Given the description of an element on the screen output the (x, y) to click on. 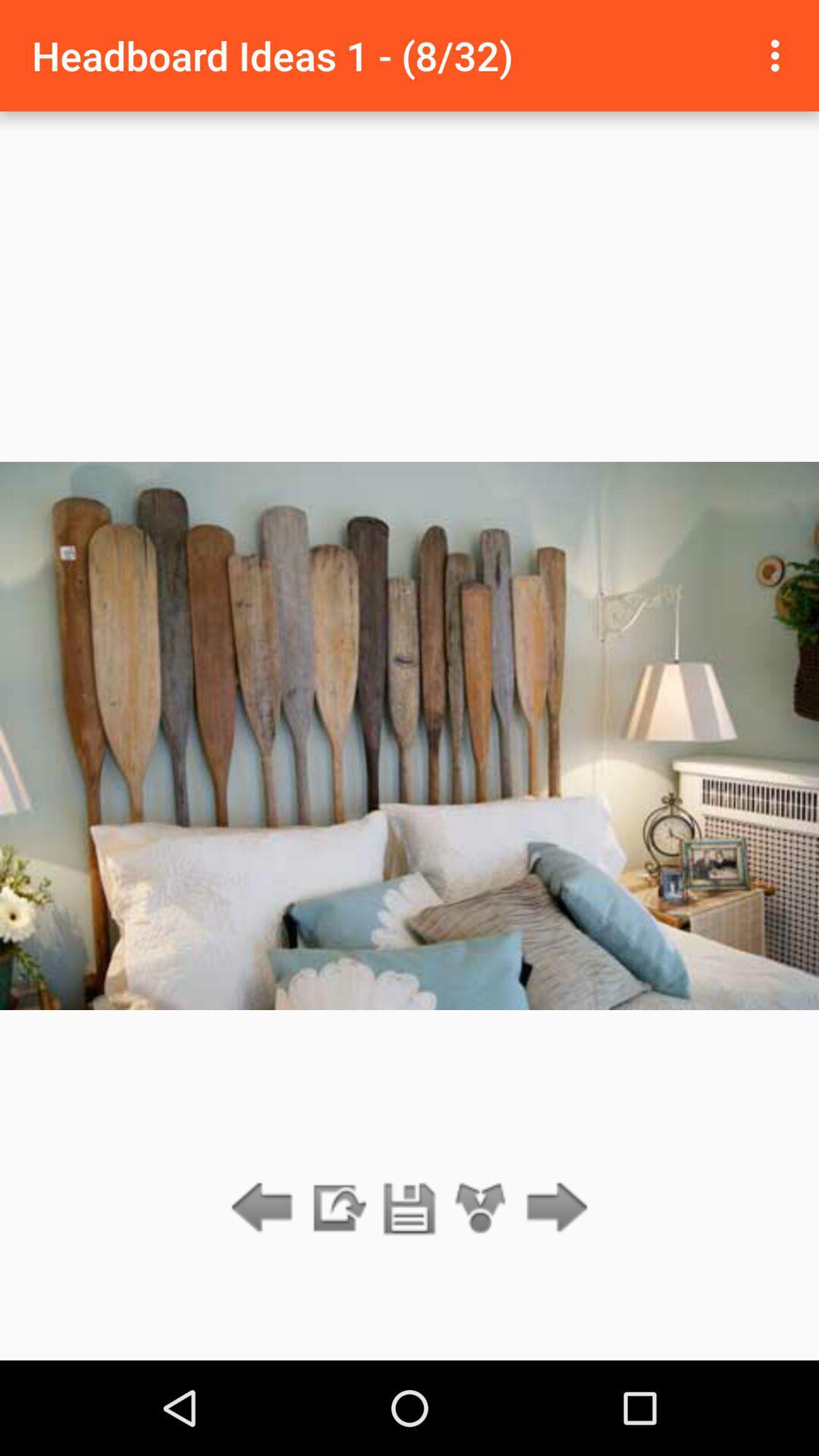
launch the icon at the top right corner (779, 55)
